Given the description of an element on the screen output the (x, y) to click on. 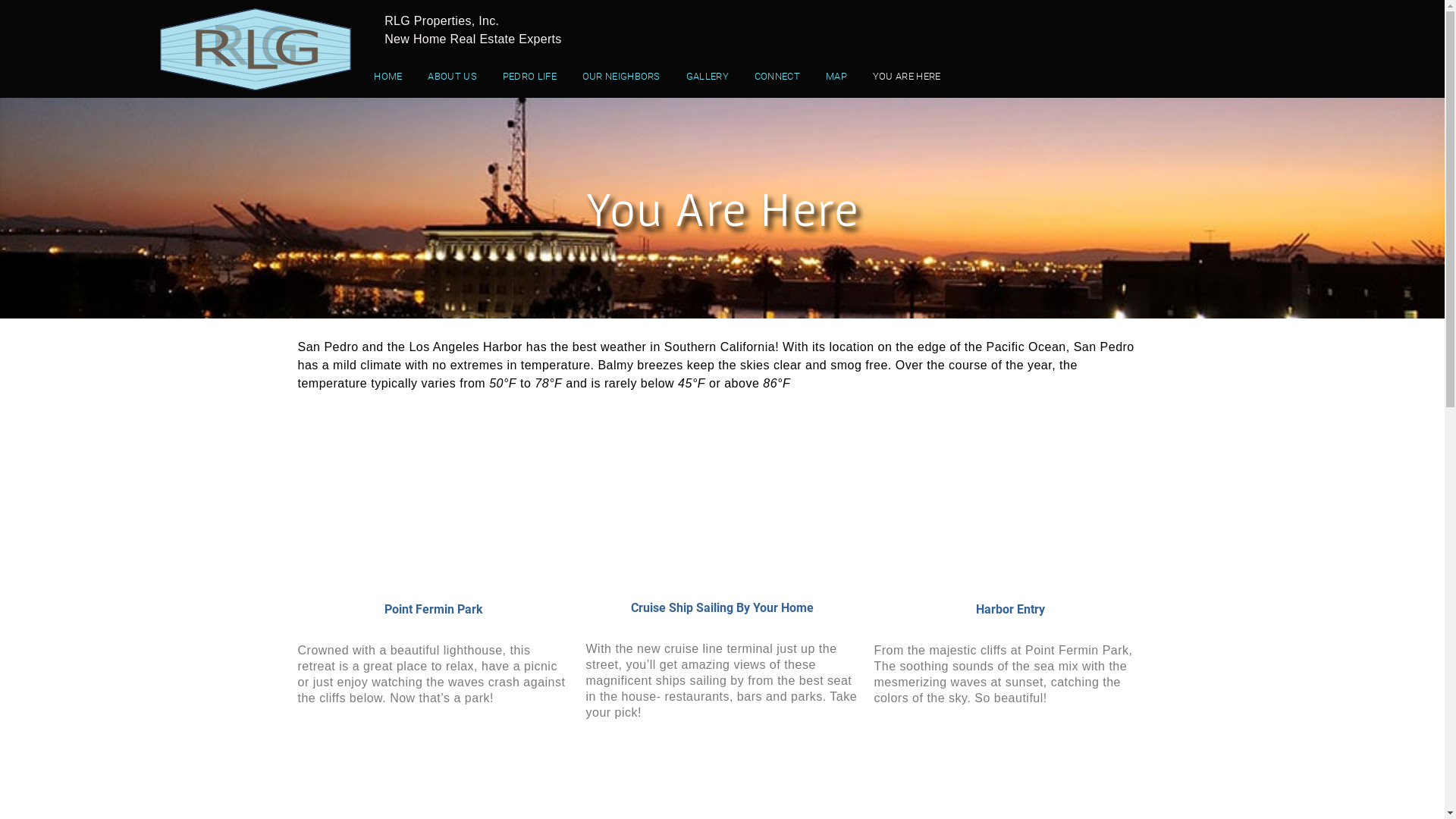
GALLERY Element type: text (707, 76)
PEDRO LIFE Element type: text (529, 76)
OUR NEIGHBORS Element type: text (621, 76)
HOME Element type: text (387, 76)
YOU ARE HERE Element type: text (906, 76)
ABOUT US Element type: text (451, 76)
MAP Element type: text (835, 76)
CONNECT Element type: text (776, 76)
